Given the description of an element on the screen output the (x, y) to click on. 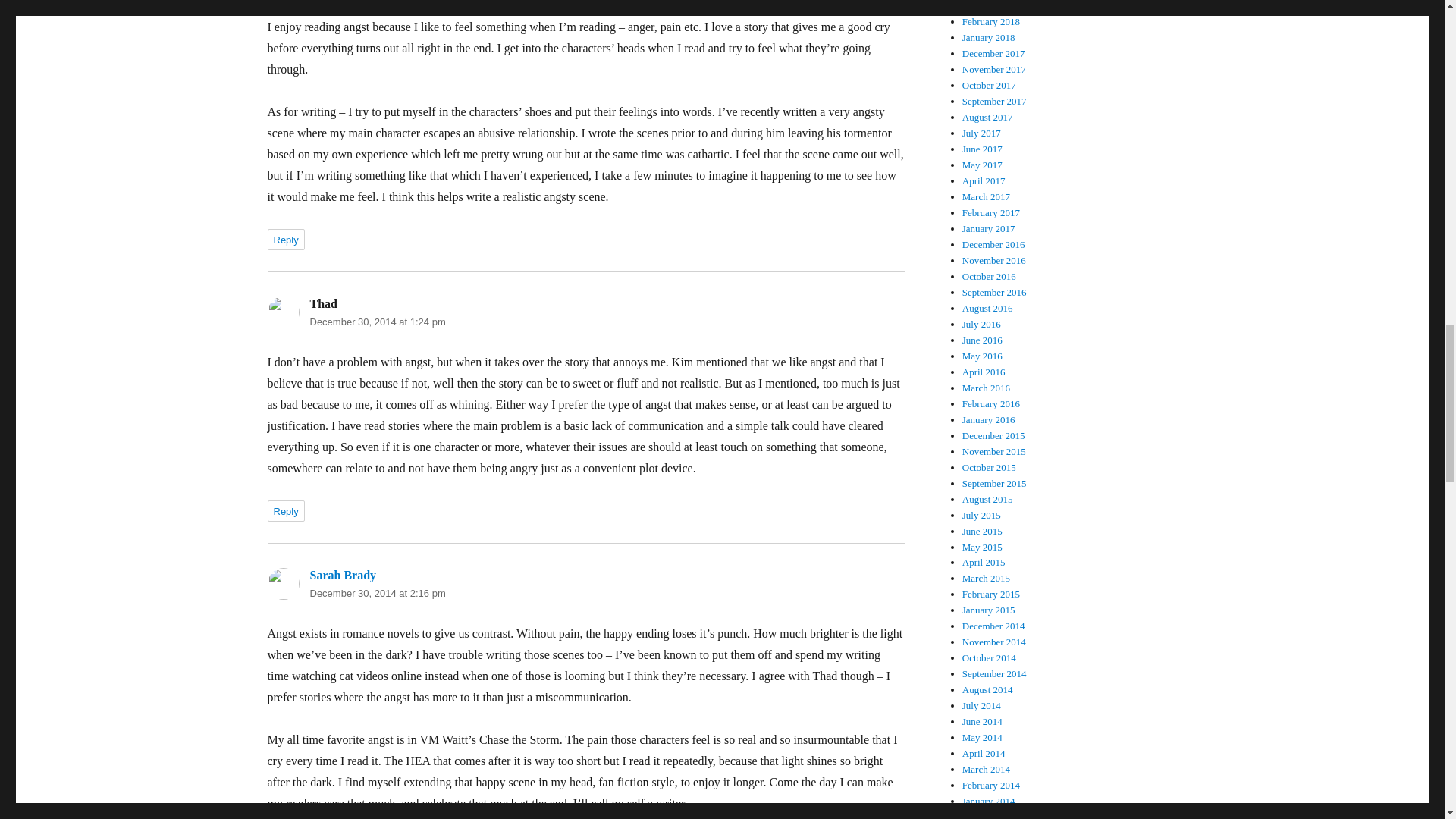
December 30, 2014 at 2:16 pm (376, 593)
December 30, 2014 at 1:24 pm (376, 321)
Sarah Brady (341, 574)
Reply (285, 239)
Reply (285, 510)
